Given the description of an element on the screen output the (x, y) to click on. 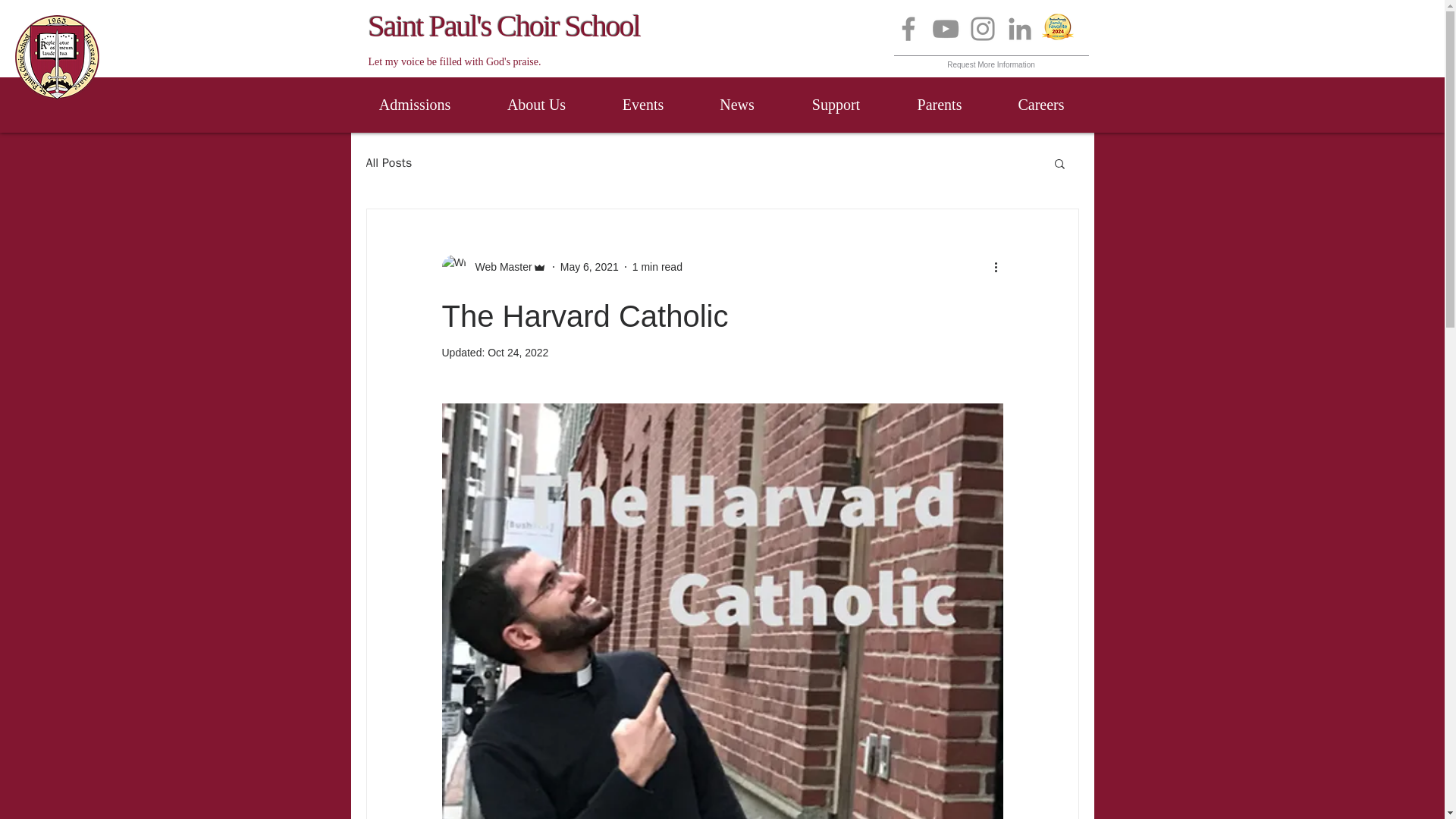
Web Master (498, 267)
Careers (1041, 104)
Admissions (415, 104)
Events (642, 104)
May 6, 2021 (589, 266)
1 min read (656, 266)
Web Master (493, 266)
Parents (939, 104)
Hand drawn smiley (1057, 26)
All Posts (388, 162)
Request More Information (991, 57)
Oct 24, 2022 (517, 352)
News (737, 104)
About Us (535, 104)
